Given the description of an element on the screen output the (x, y) to click on. 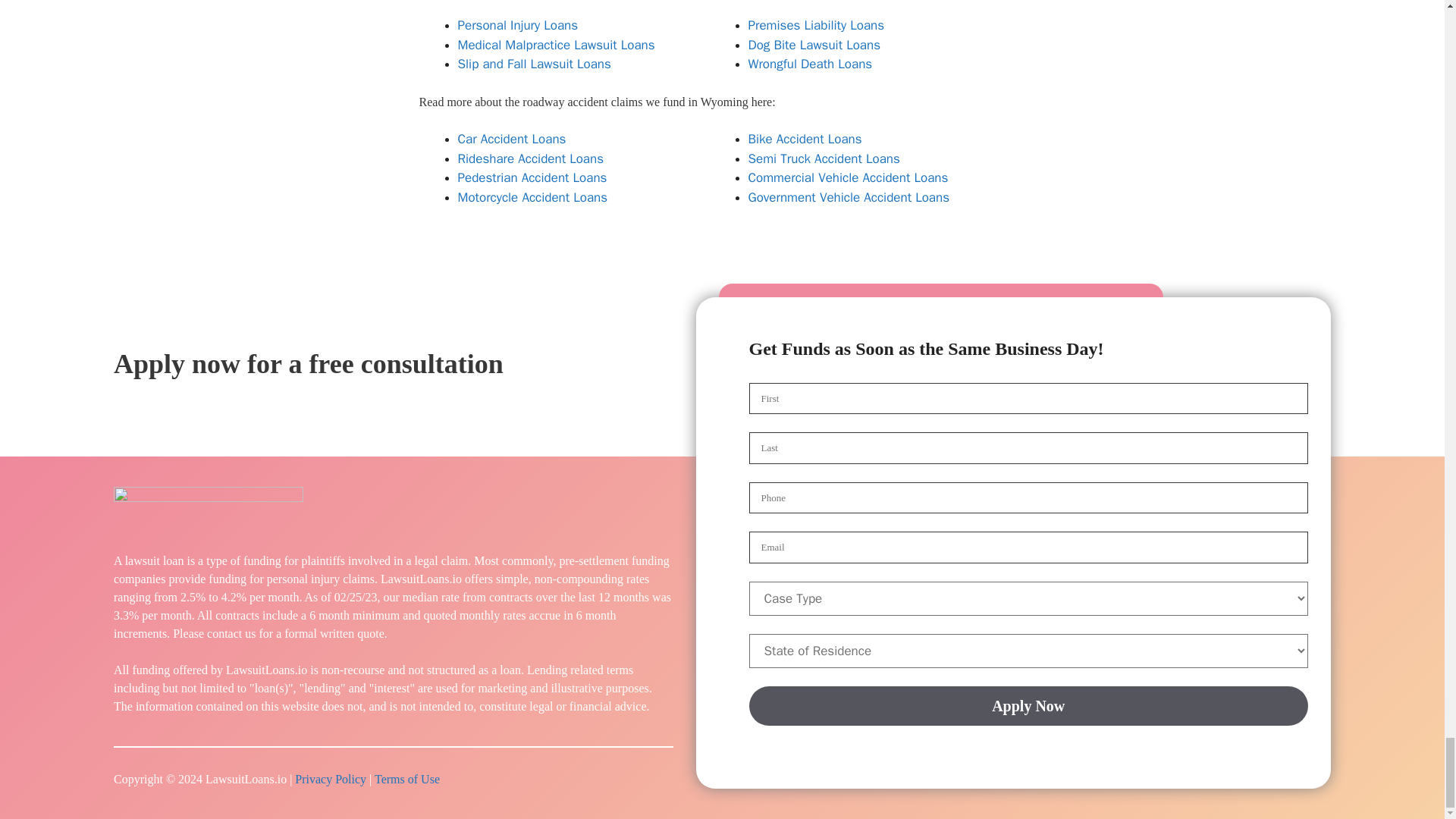
Apply Now (1028, 705)
Personal Injury Loans (518, 25)
